Given the description of an element on the screen output the (x, y) to click on. 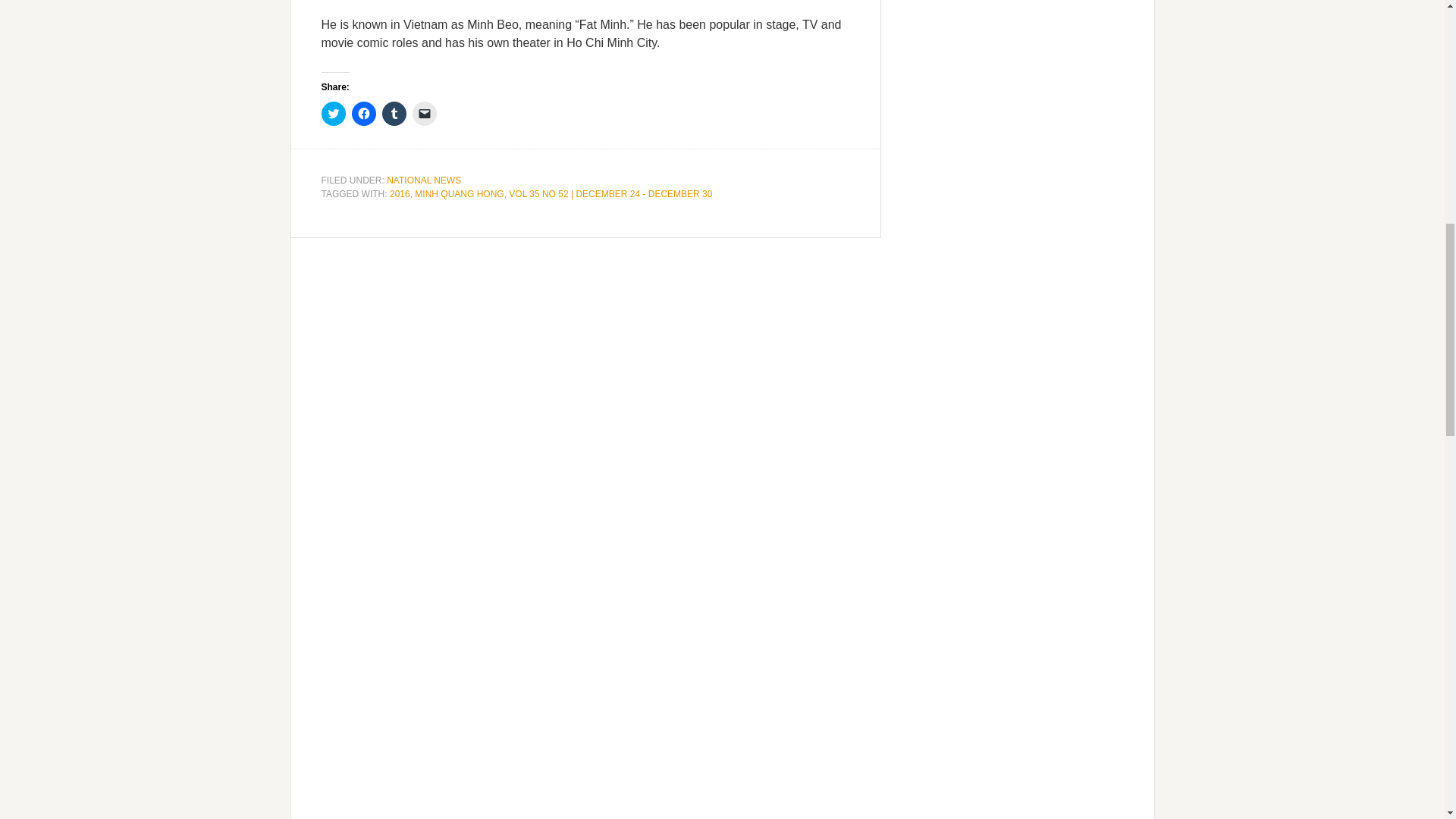
Click to share on Twitter (333, 113)
Click to email a link to a friend (424, 113)
Click to share on Tumblr (393, 113)
Click to share on Facebook (363, 113)
